Given the description of an element on the screen output the (x, y) to click on. 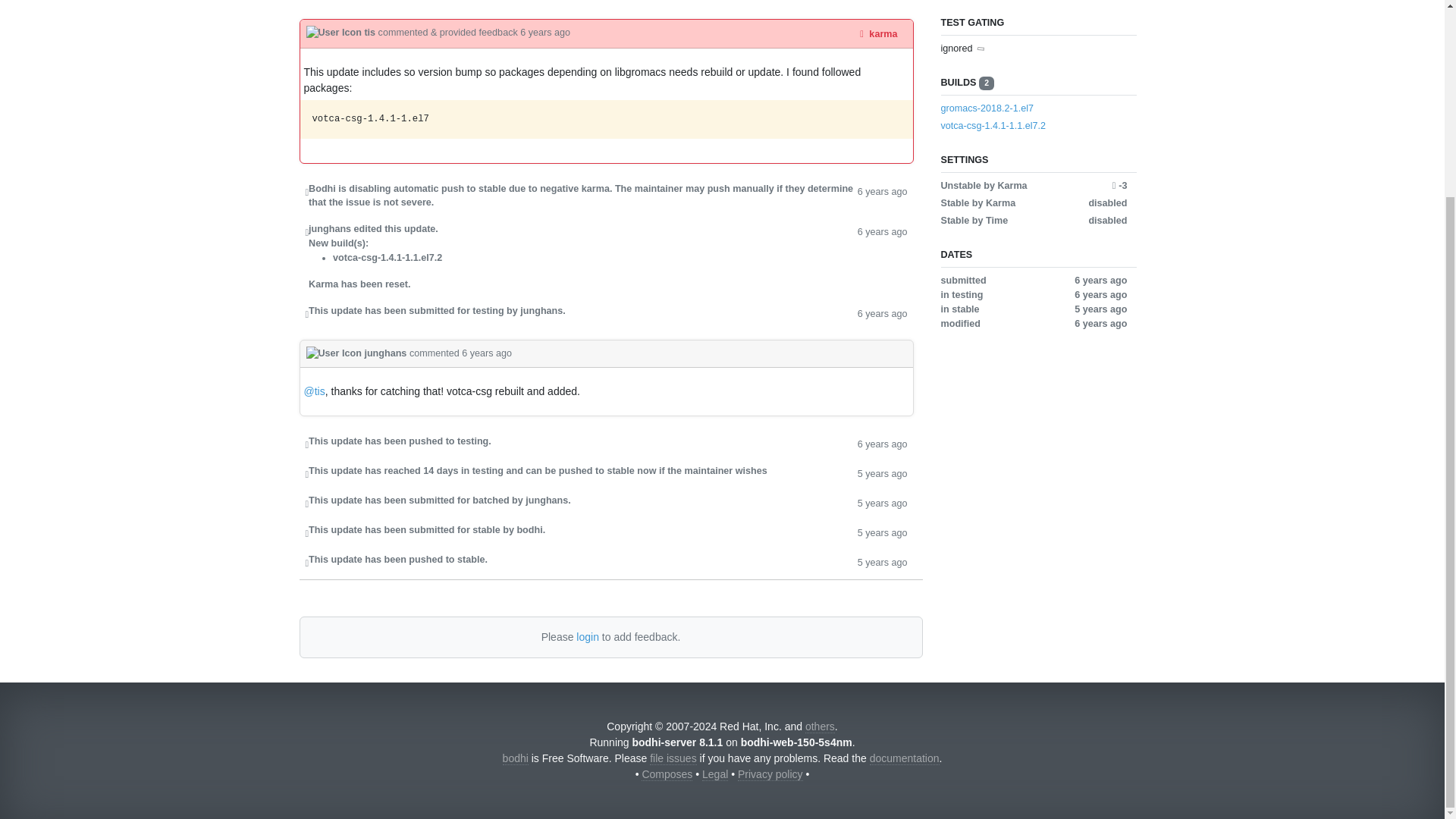
6 years ago (882, 312)
The update will be marked as unstable when karma reaches -3  (1119, 185)
ignored (956, 48)
6 years ago (882, 195)
6 years ago (544, 32)
tis (341, 32)
5 years ago (882, 502)
votca-csg-1.4.1-1.1.el7.2 (1033, 125)
5 years ago (882, 561)
6 years ago (882, 443)
